Given the description of an element on the screen output the (x, y) to click on. 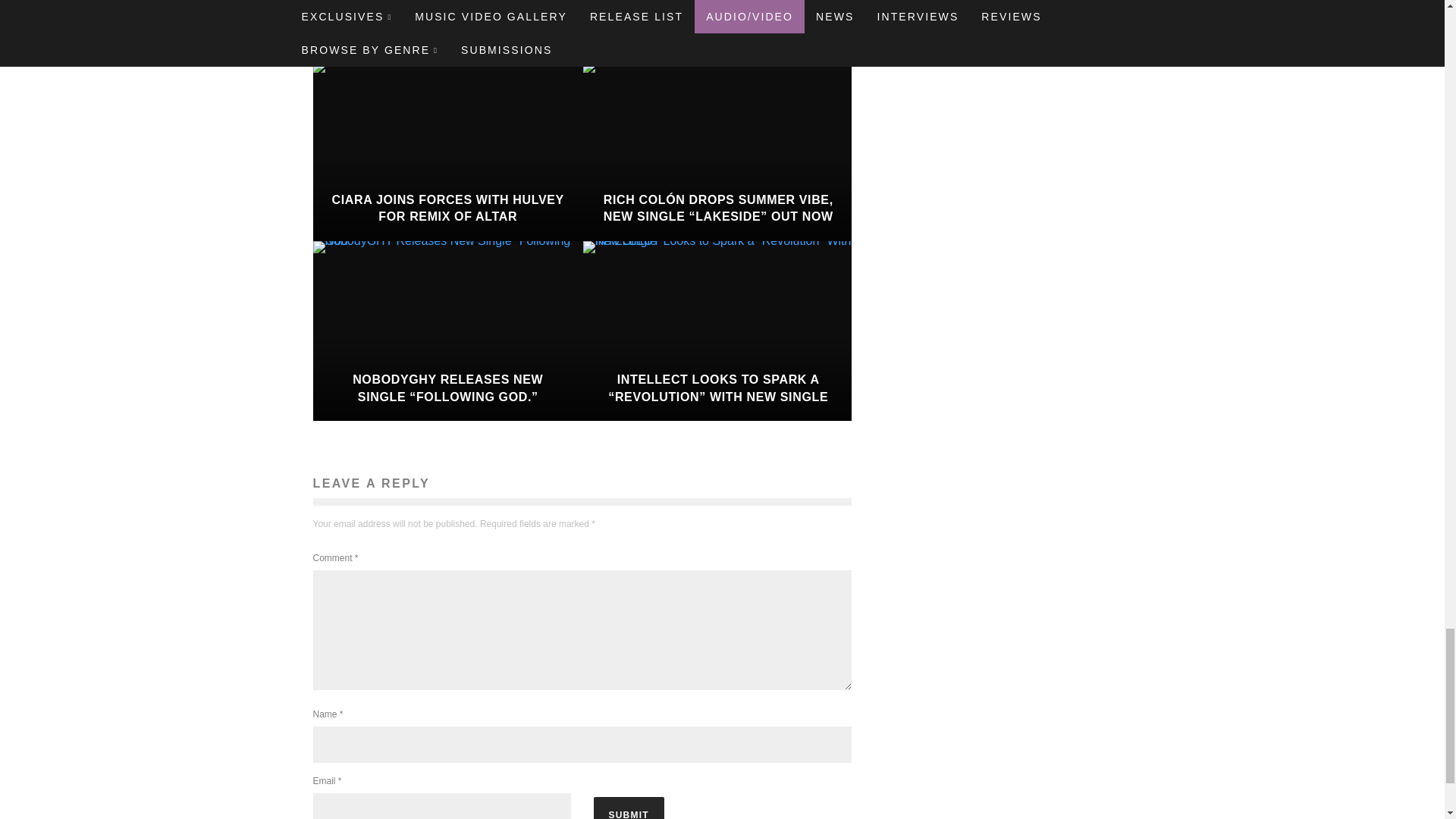
Submit (627, 807)
